Given the description of an element on the screen output the (x, y) to click on. 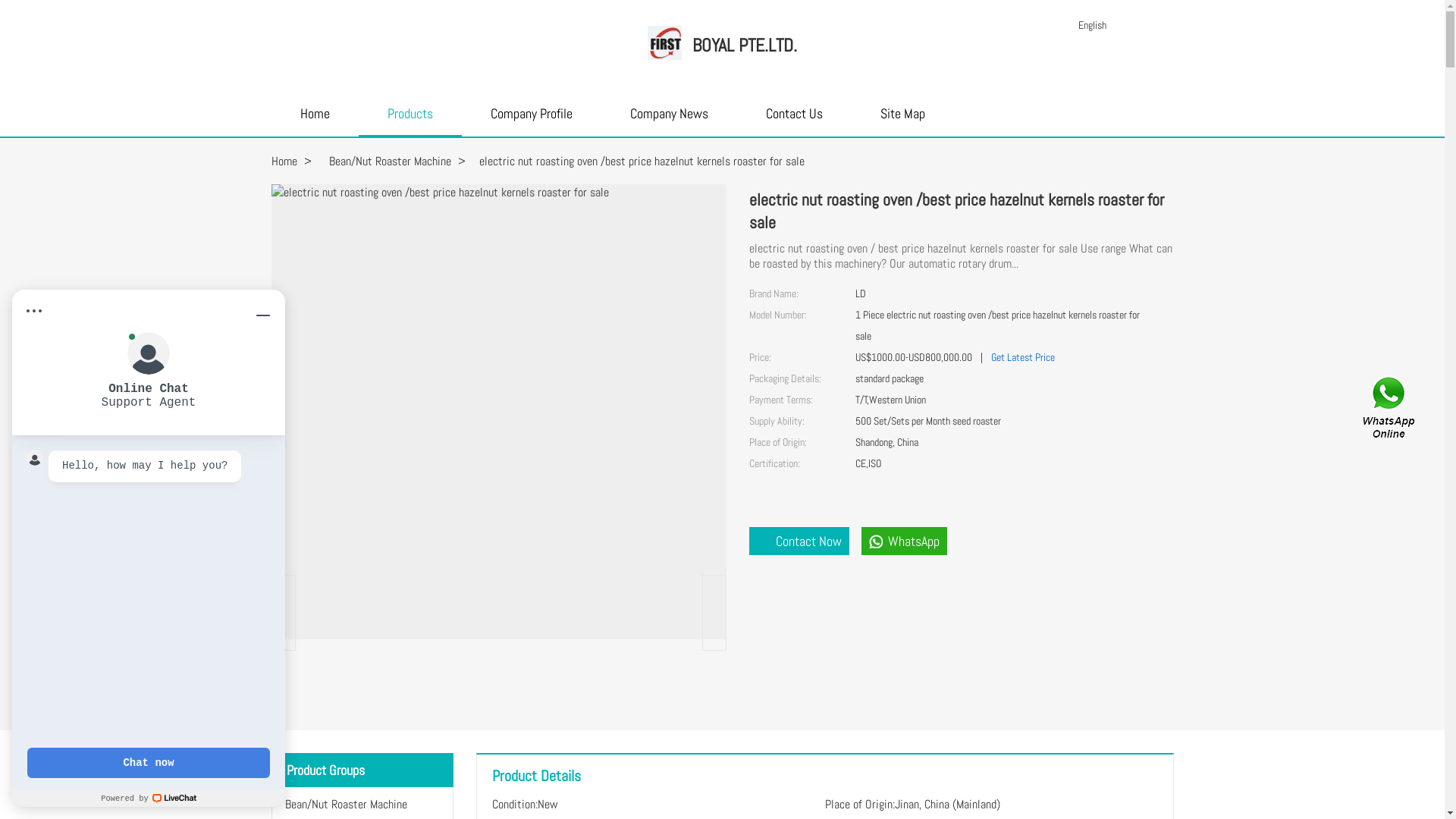
Products Element type: text (409, 120)
Contact Us Element type: text (794, 119)
Contact Us Element type: hover (1389, 409)
Site Map Element type: text (901, 119)
Bean/Nut Roaster Machine Element type: text (346, 804)
Company Profile Element type: text (530, 119)
BOYAL PTE.LTD. Element type: text (744, 45)
WhatsApp Element type: text (904, 541)
Company News Element type: text (668, 119)
Contact Now Element type: text (799, 541)
Get Latest Price Element type: text (1022, 357)
Bean/Nut Roaster Machine Element type: text (390, 161)
Home Element type: text (284, 161)
Home Element type: text (314, 119)
